Given the description of an element on the screen output the (x, y) to click on. 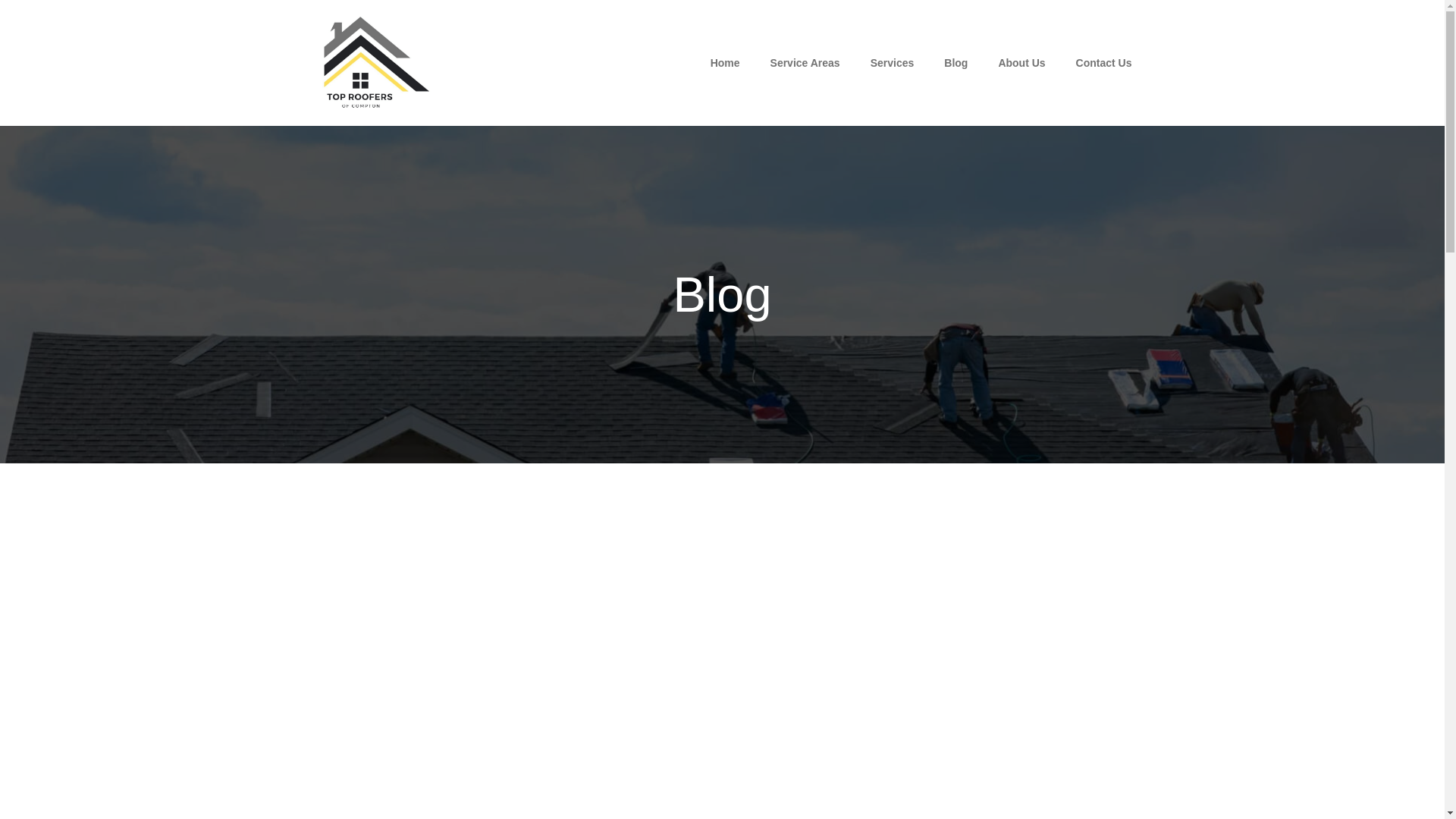
Service Areas (805, 62)
About Us (1020, 62)
Blog (955, 62)
Services (893, 62)
Home (725, 62)
Contact Us (1104, 62)
